Given the description of an element on the screen output the (x, y) to click on. 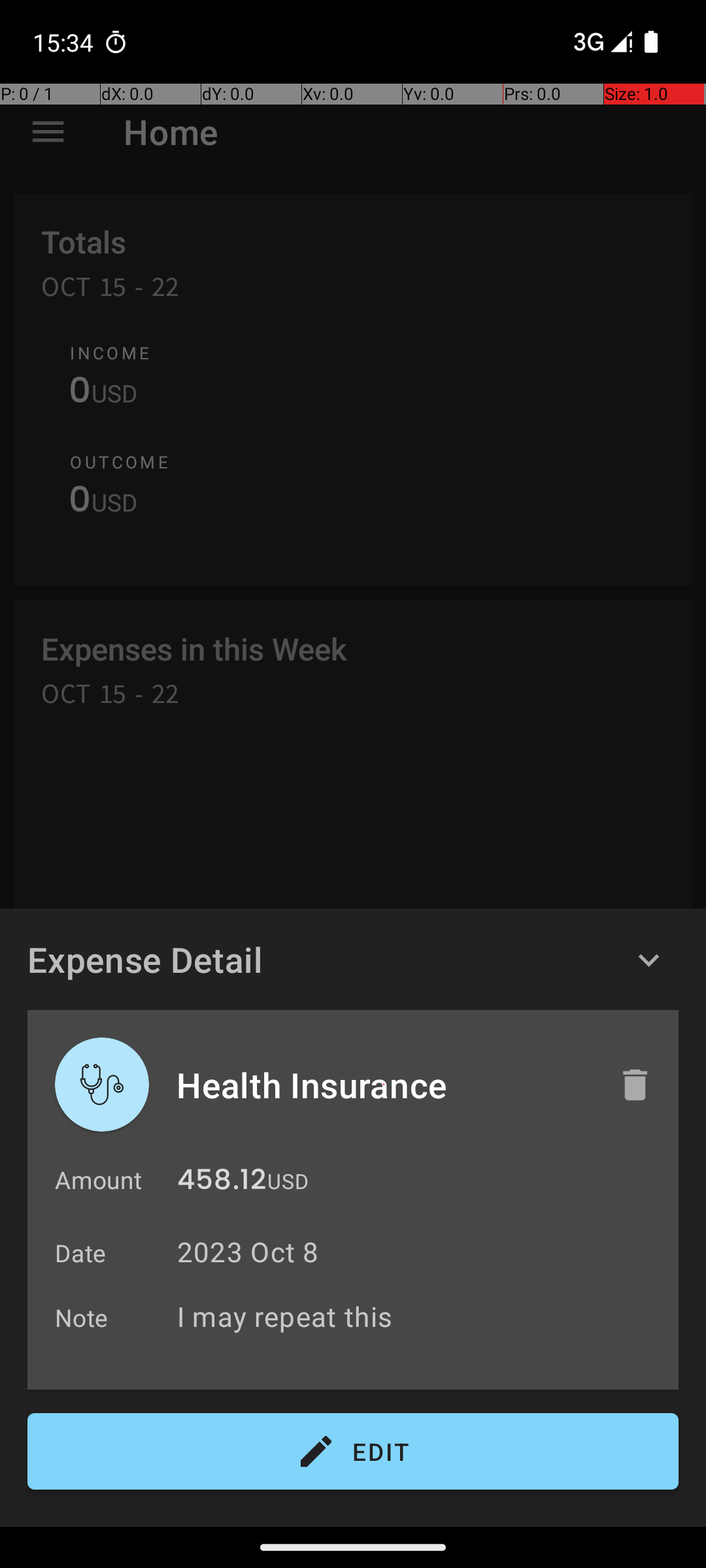
Health Insurance Element type: android.widget.TextView (383, 1084)
458.12 Element type: android.widget.TextView (221, 1182)
